Given the description of an element on the screen output the (x, y) to click on. 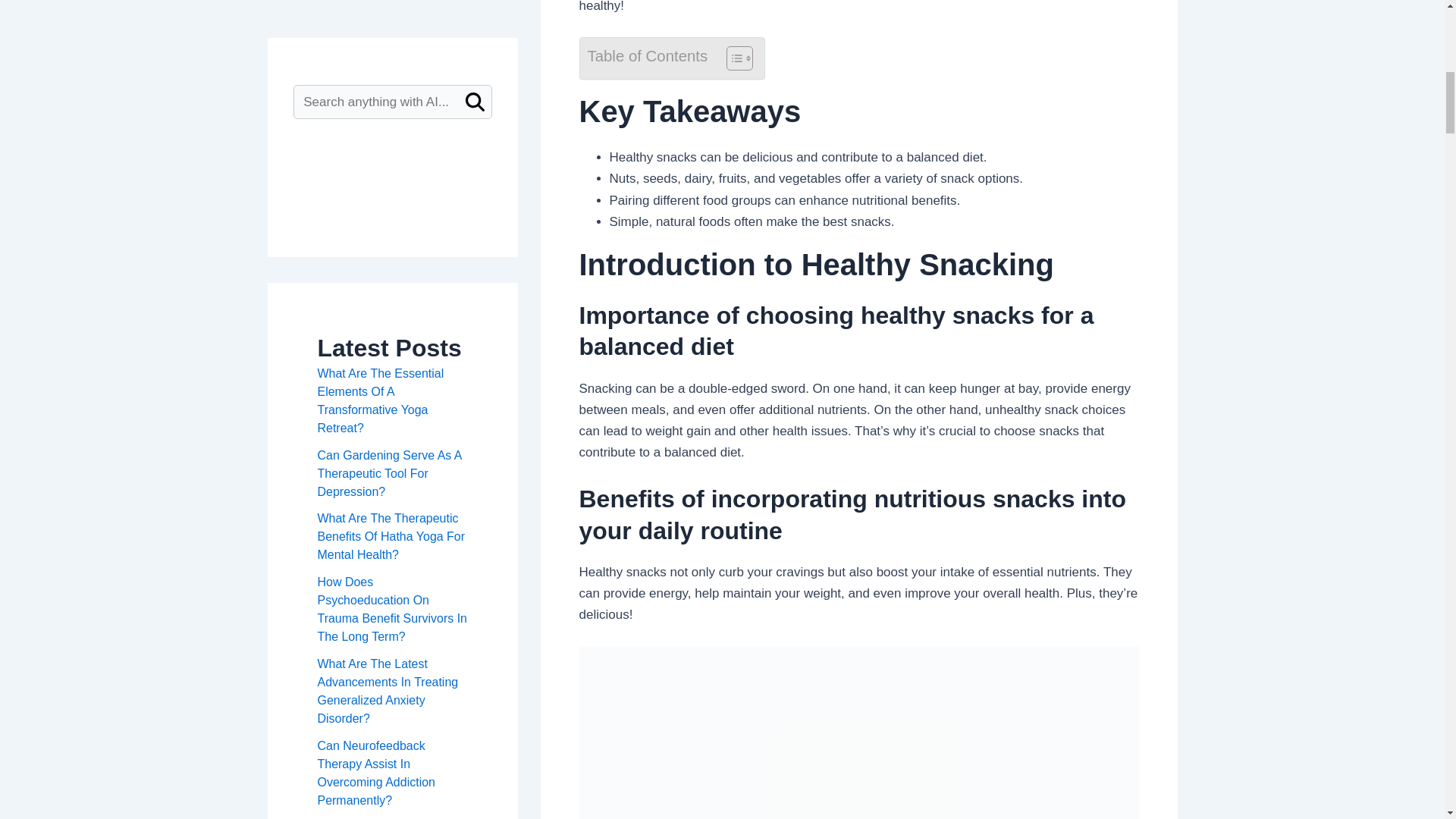
Can Gardening Serve As A Therapeutic Tool For Depression? (389, 327)
